Given the description of an element on the screen output the (x, y) to click on. 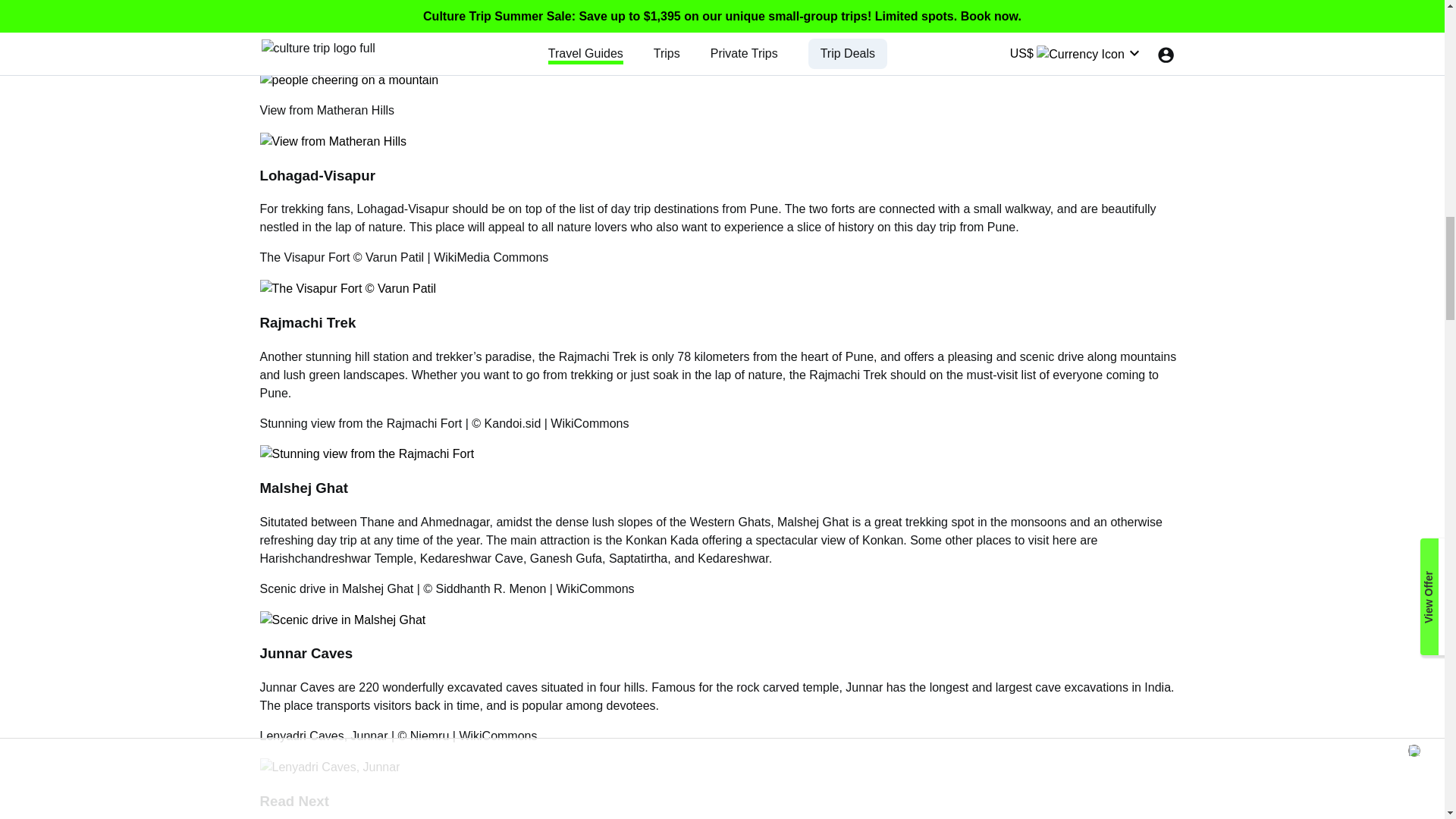
Rajmachi (585, 356)
privacy policy (319, 48)
WikiMedia Commons (490, 256)
Lohagad-Visapur (402, 208)
Sign up (722, 13)
